Given the description of an element on the screen output the (x, y) to click on. 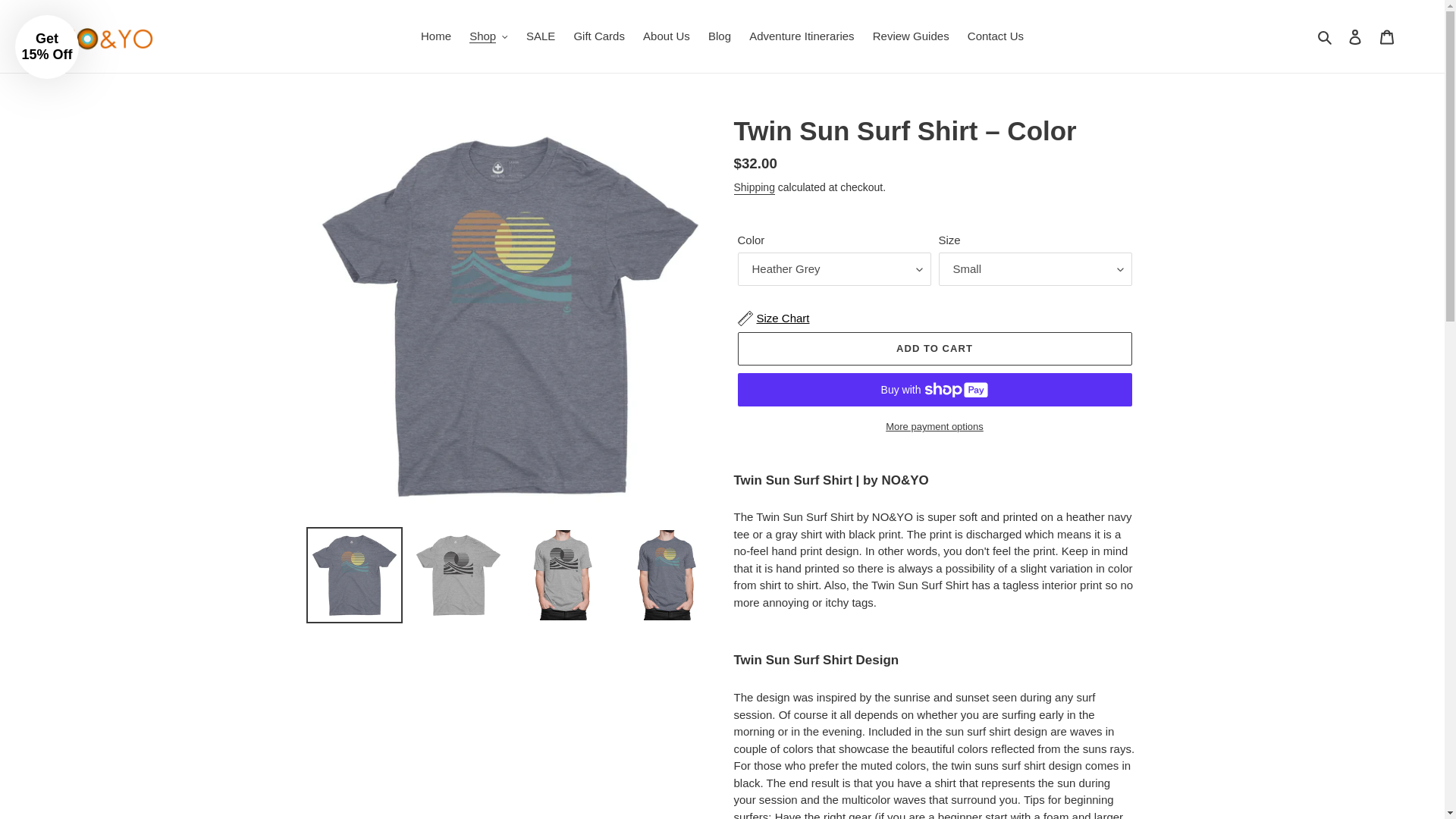
Home (435, 36)
About Us (665, 36)
SALE (540, 36)
Blog (719, 36)
Contact Us (994, 36)
Review Guides (910, 36)
Shop (488, 36)
Gift Cards (598, 36)
Search (1326, 36)
Log in (1355, 36)
Cart (1387, 36)
Adventure Itineraries (801, 36)
